Given the description of an element on the screen output the (x, y) to click on. 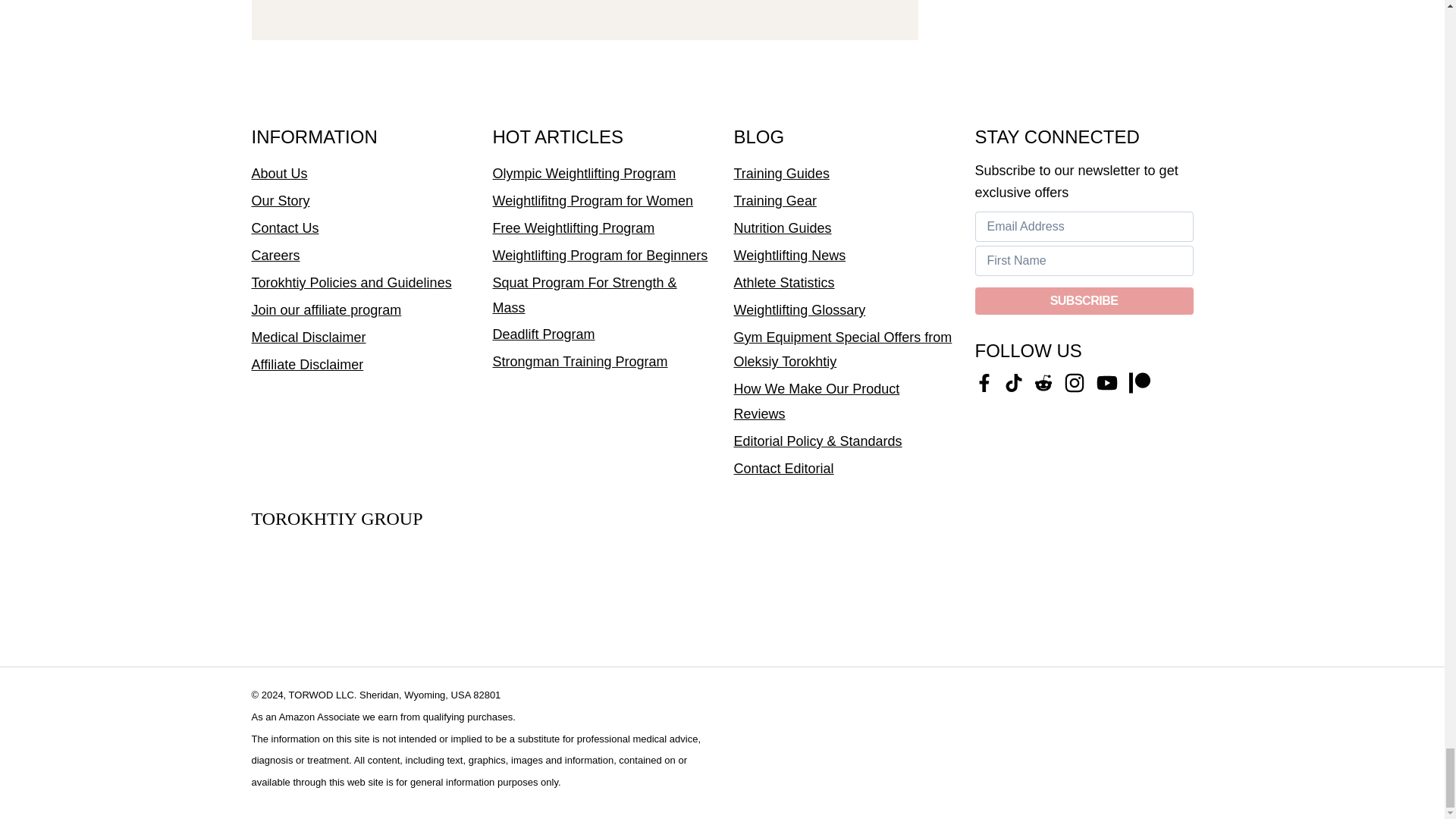
Subscribe (1084, 300)
